Given the description of an element on the screen output the (x, y) to click on. 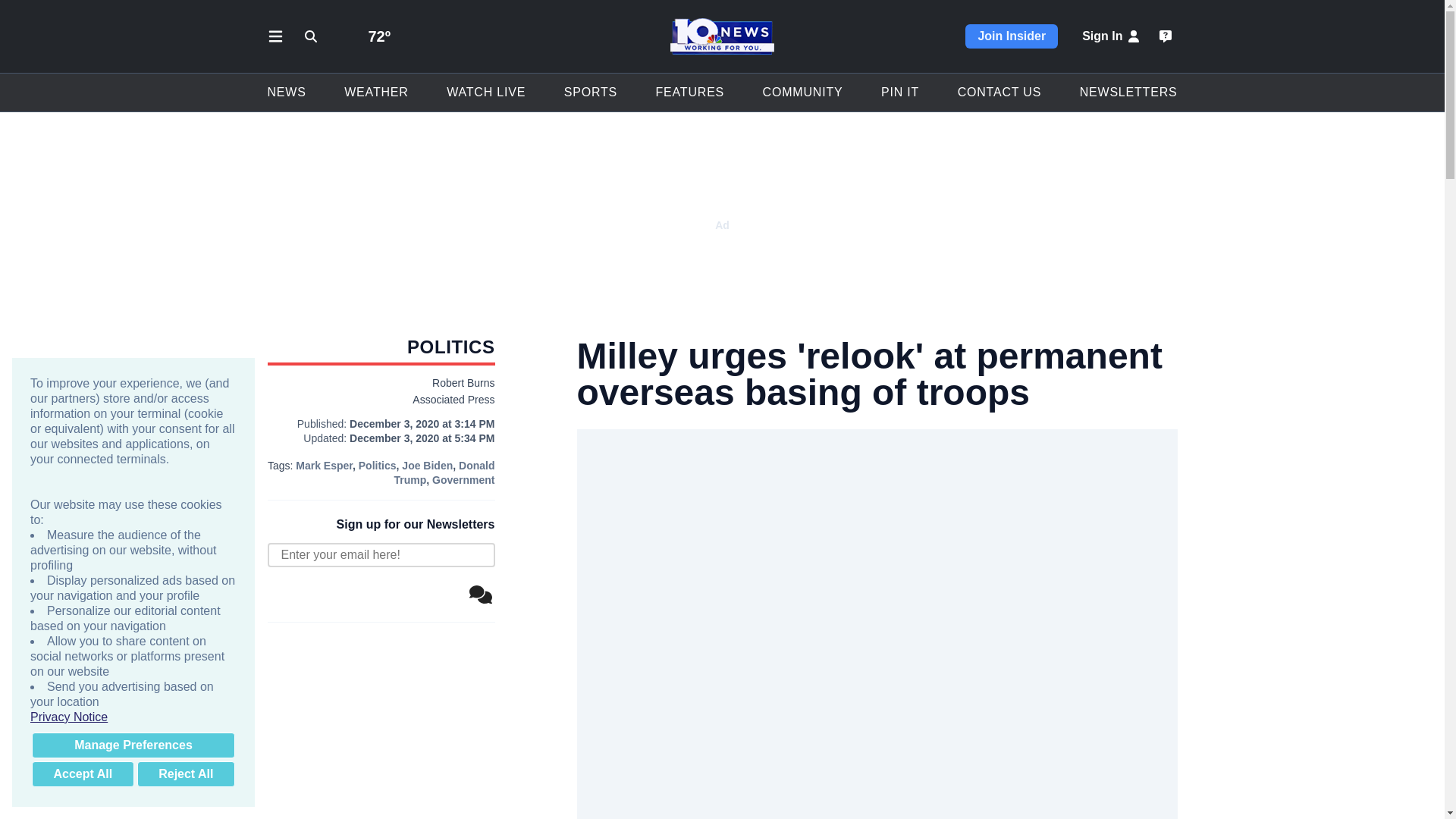
Privacy Notice (132, 717)
Reject All (185, 774)
Manage Preferences (133, 745)
Sign In (1111, 36)
Join Insider (1011, 36)
Accept All (82, 774)
